Given the description of an element on the screen output the (x, y) to click on. 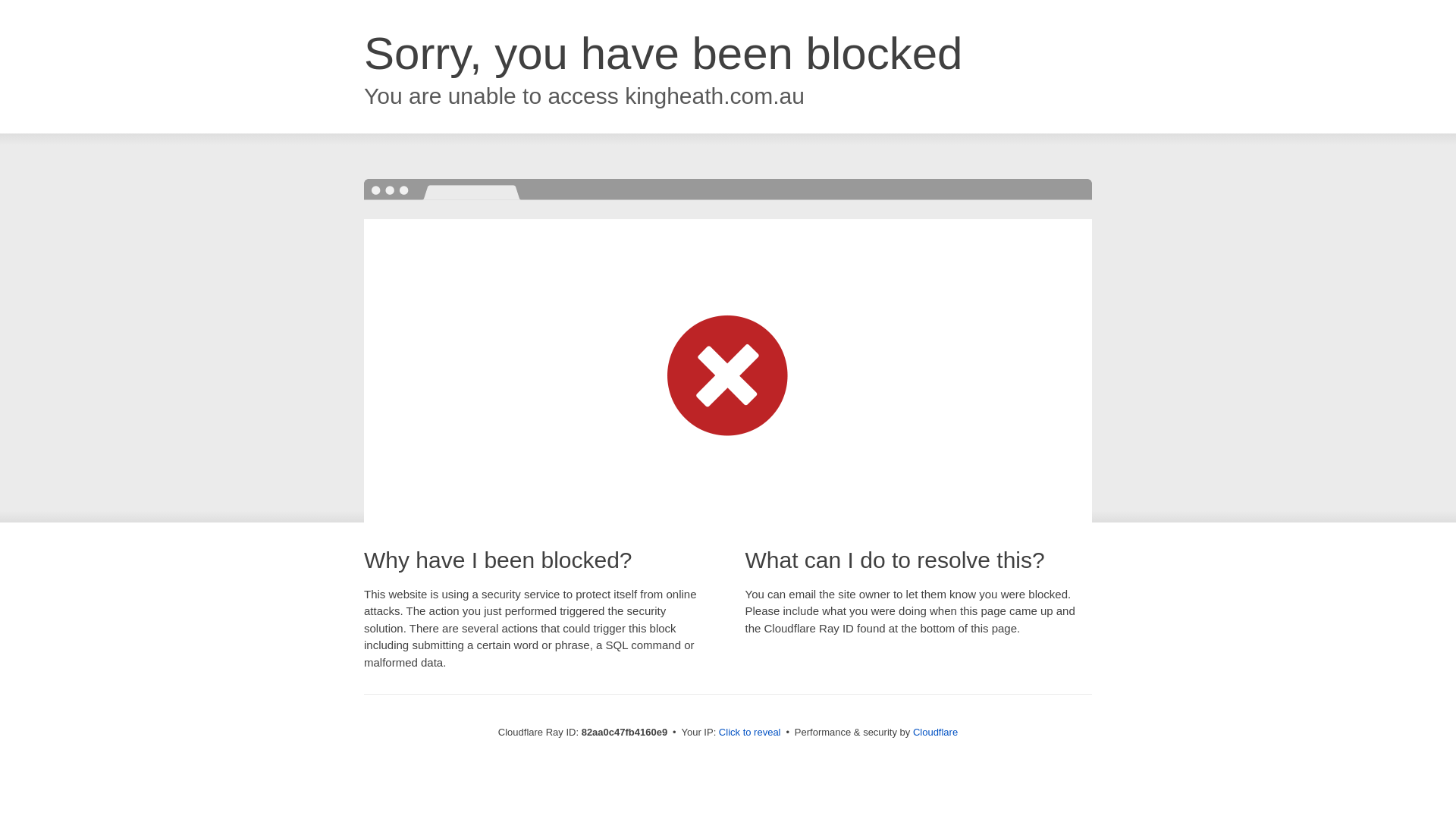
Cloudflare Element type: text (935, 731)
Click to reveal Element type: text (749, 732)
